Given the description of an element on the screen output the (x, y) to click on. 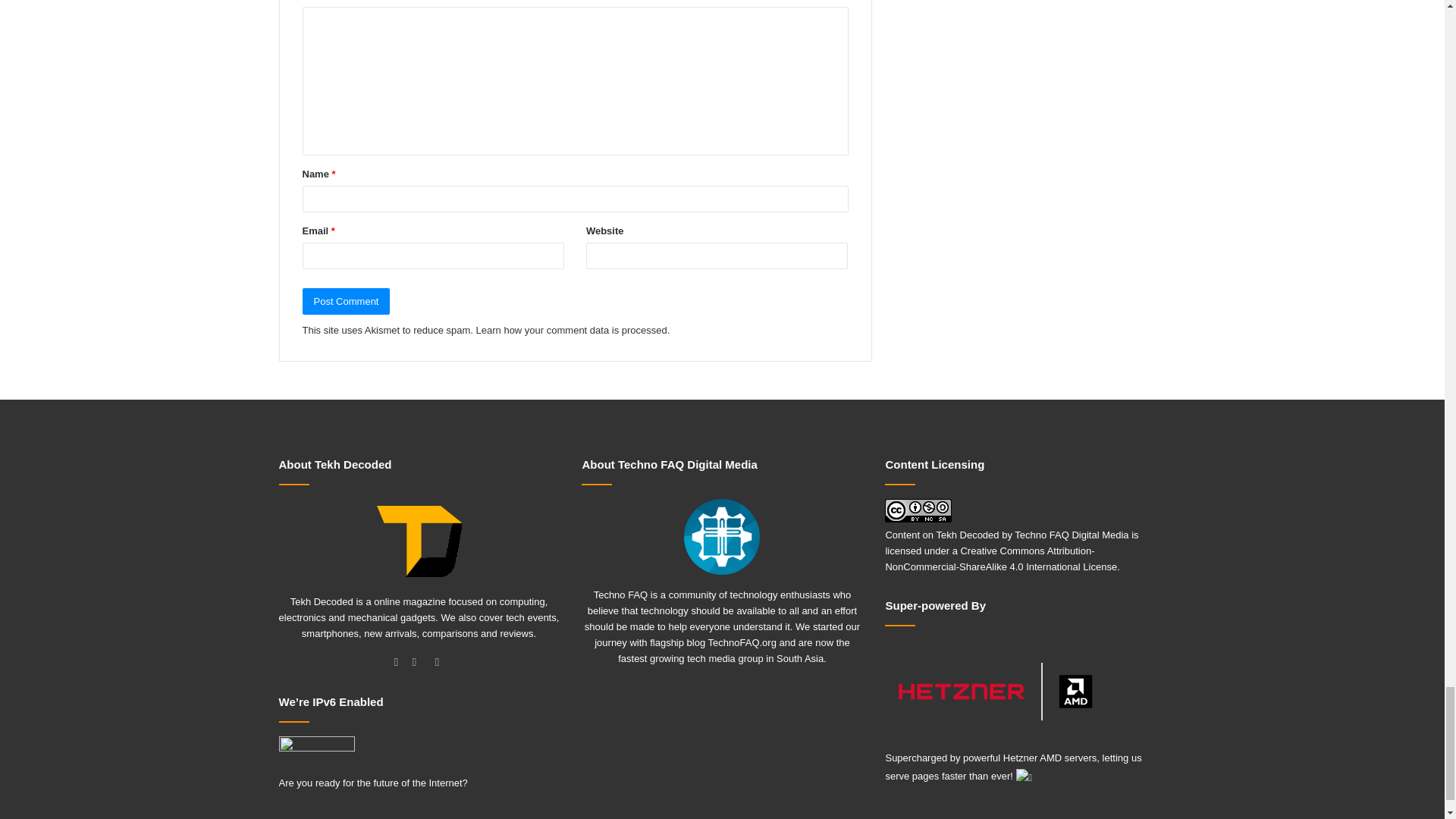
Post Comment (345, 301)
